Given the description of an element on the screen output the (x, y) to click on. 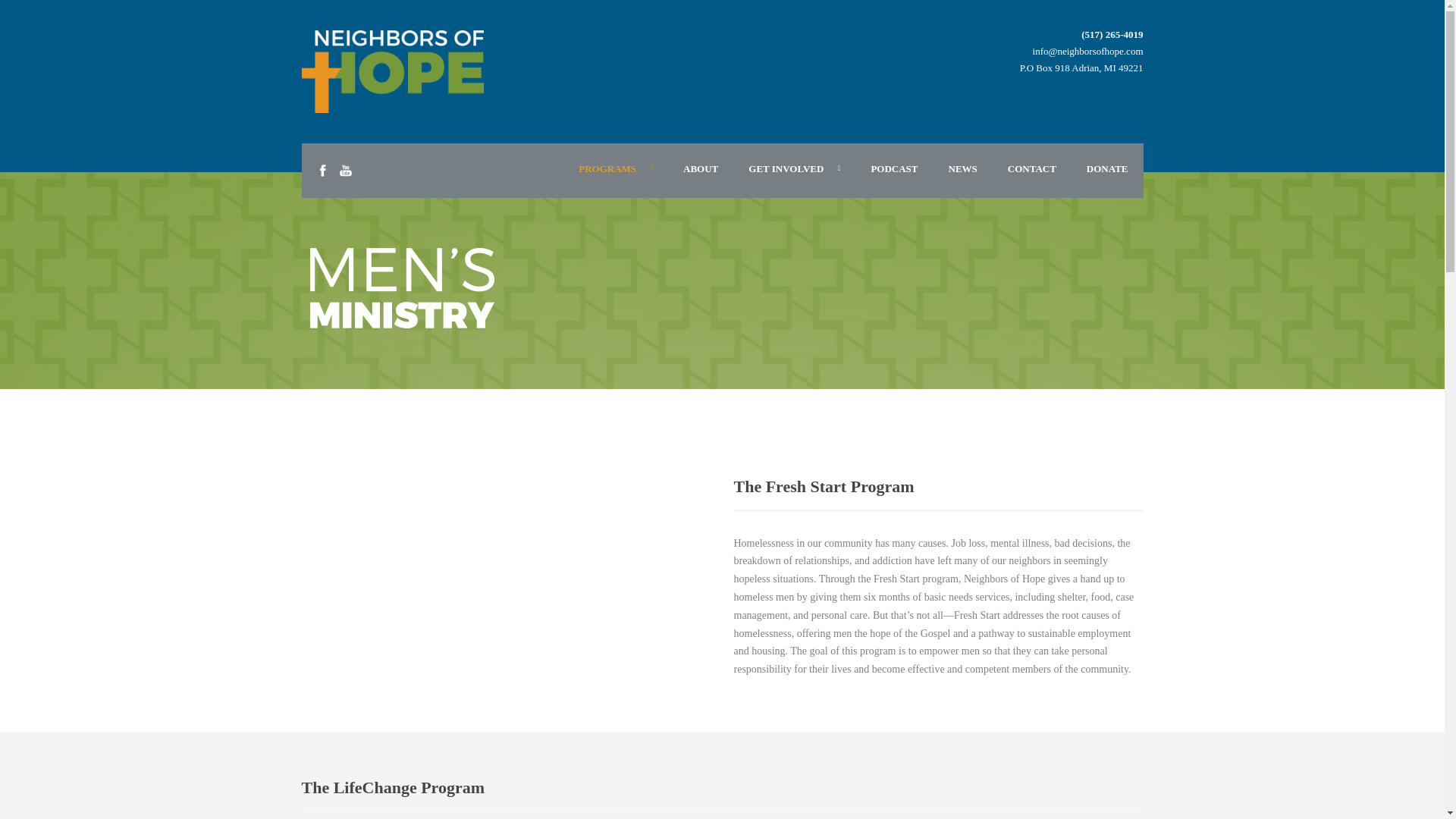
NEWS (962, 168)
PODCAST (894, 168)
GET INVOLVED (794, 168)
ABOUT (700, 168)
CONTACT (1031, 168)
DONATE (1106, 168)
PROGRAMS (615, 168)
